Given the description of an element on the screen output the (x, y) to click on. 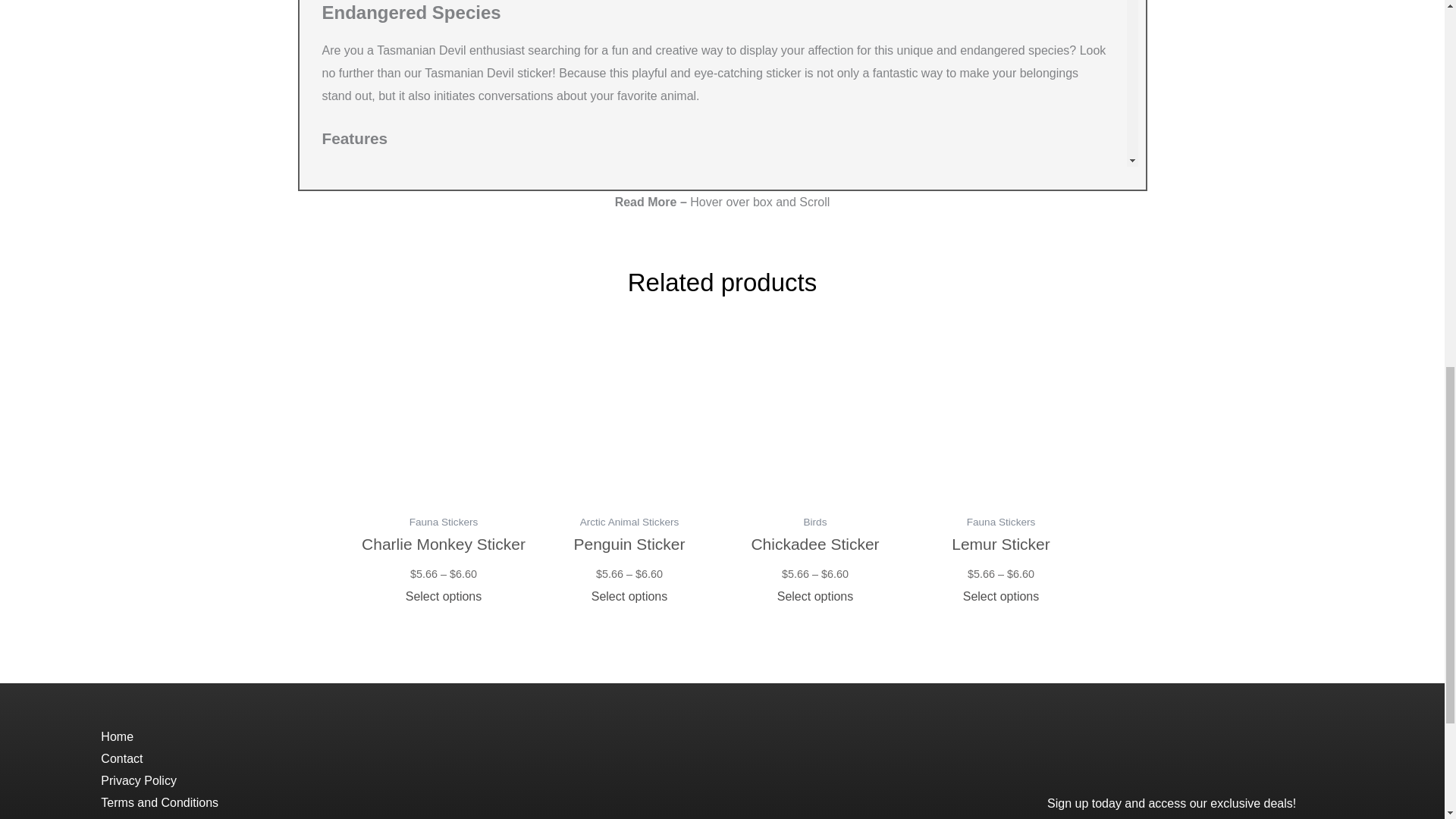
Chickadee Sticker (814, 556)
Select options (814, 596)
Select options (1000, 596)
Charlie Monkey Sticker (442, 556)
Lemur Sticker (1001, 556)
Penguin Sticker (629, 556)
Select options (628, 596)
Select options (443, 596)
